Given the description of an element on the screen output the (x, y) to click on. 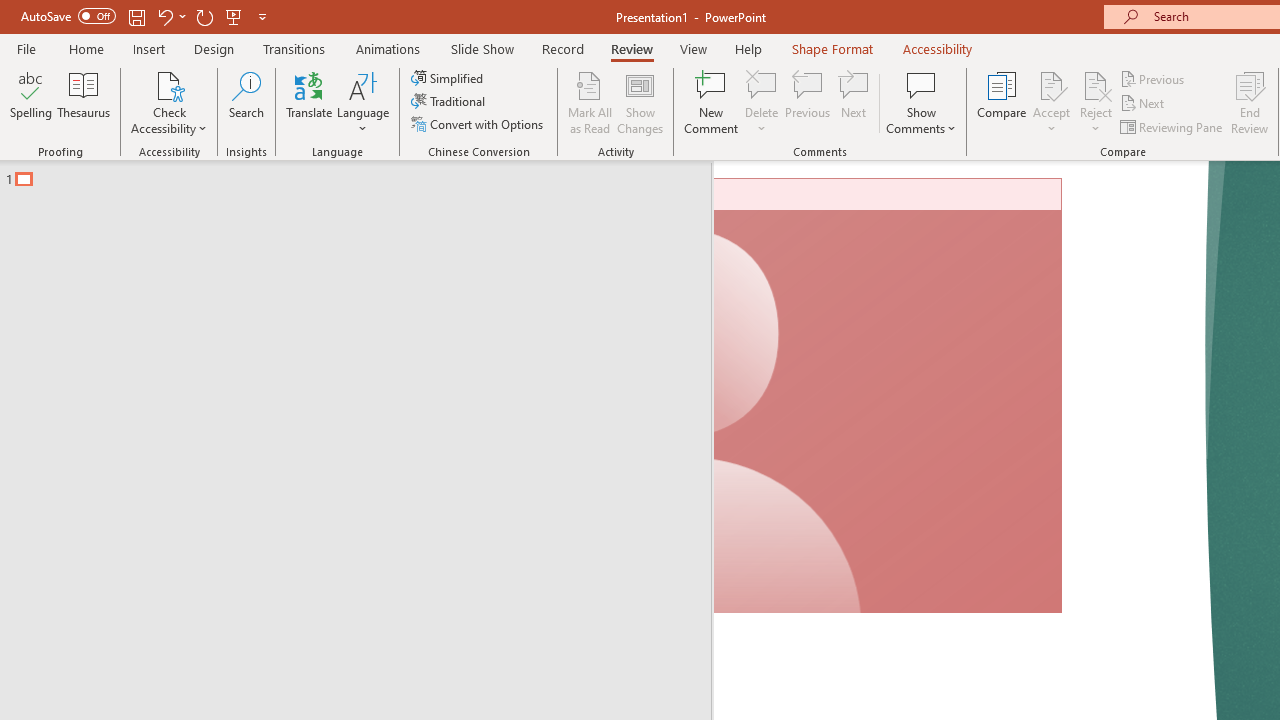
New Comment (711, 102)
Reject Change (1096, 84)
Delete (762, 102)
End Review (1249, 102)
More Options (1096, 121)
Redo (204, 15)
Quick Access Toolbar (145, 16)
Home (86, 48)
